Given the description of an element on the screen output the (x, y) to click on. 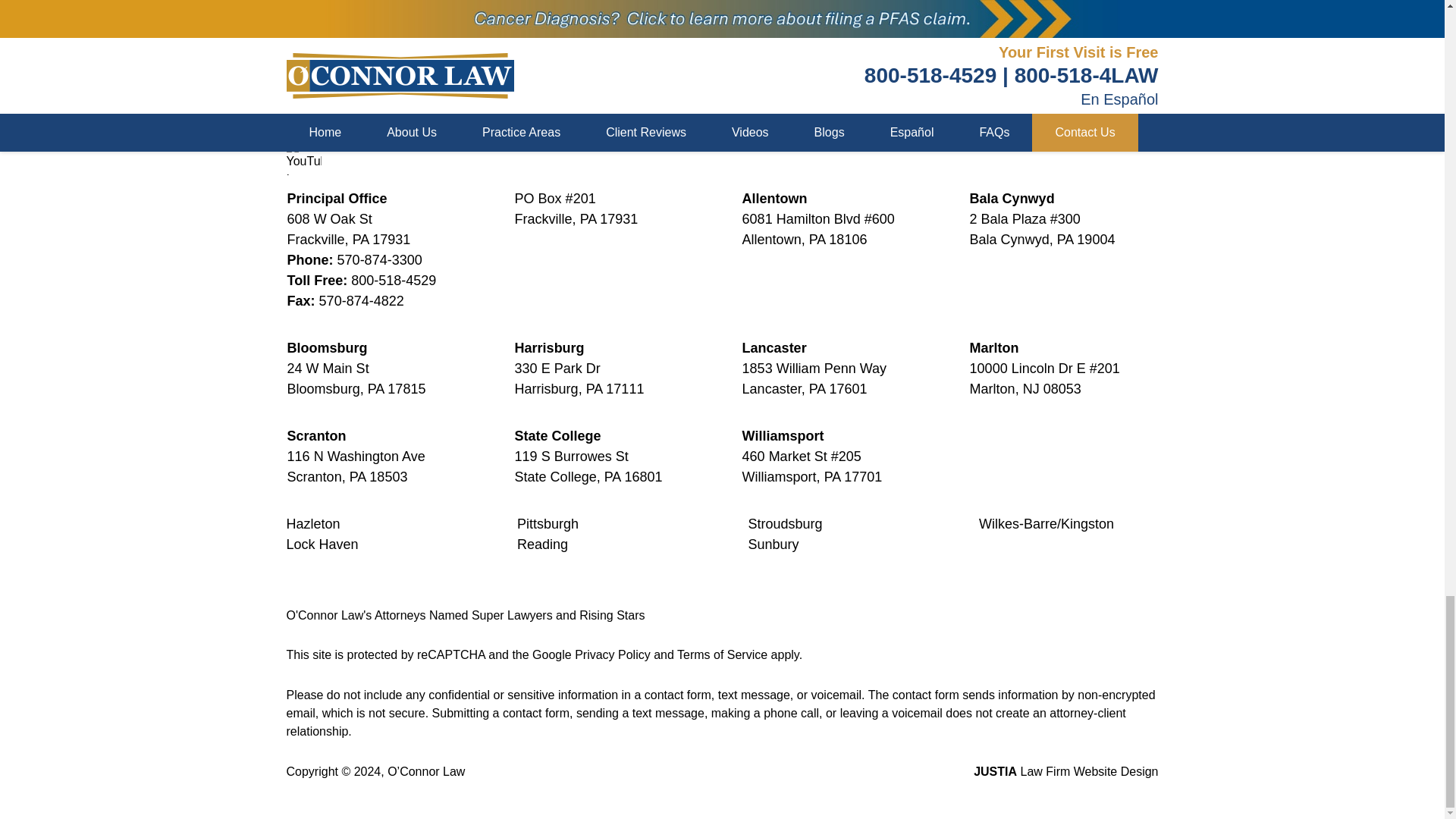
Facebook (303, 108)
YouTube (303, 157)
Justia (429, 108)
Twitter (345, 108)
LinkedIn (386, 108)
